Given the description of an element on the screen output the (x, y) to click on. 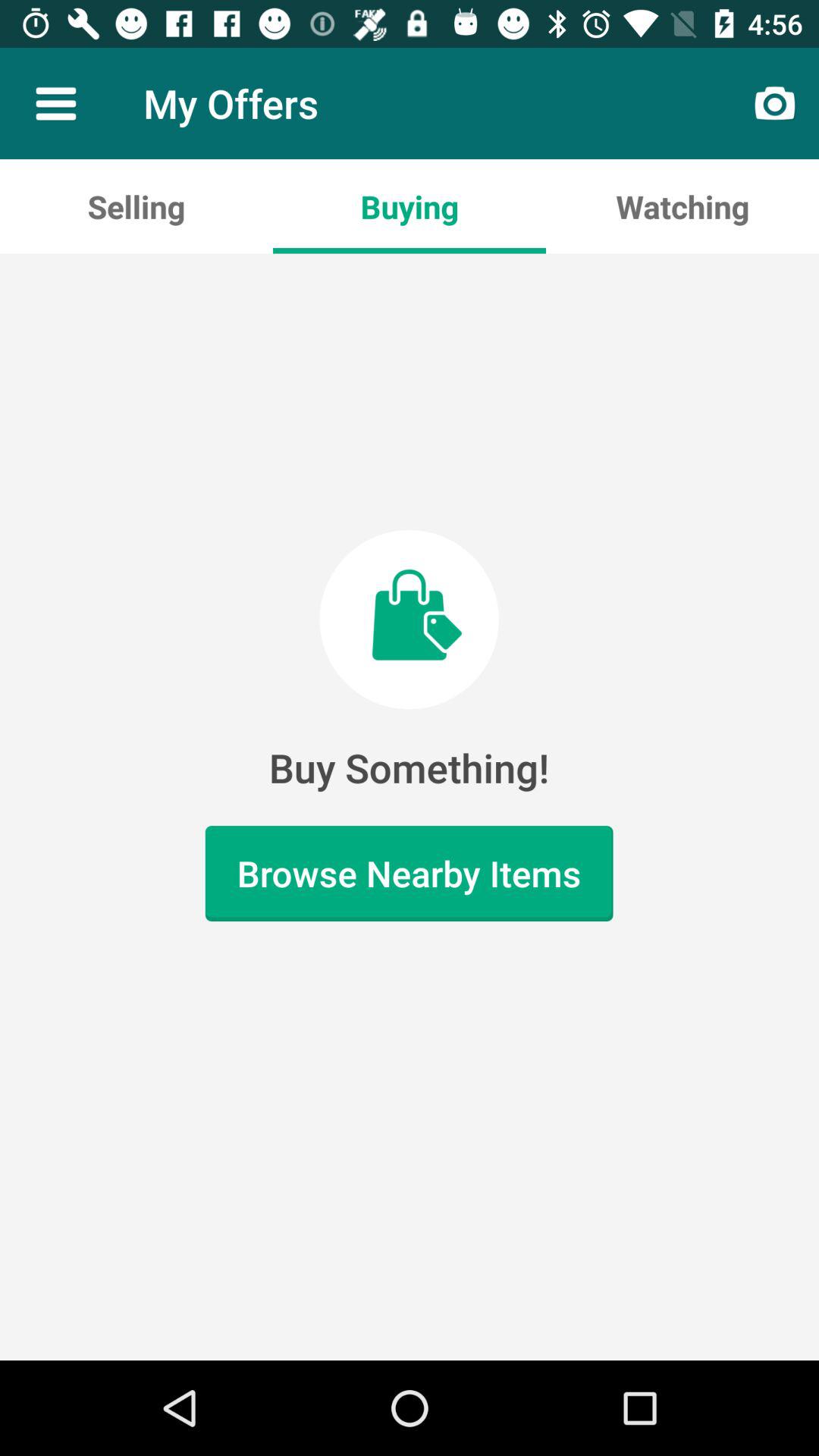
select the item next to the buying item (136, 206)
